Given the description of an element on the screen output the (x, y) to click on. 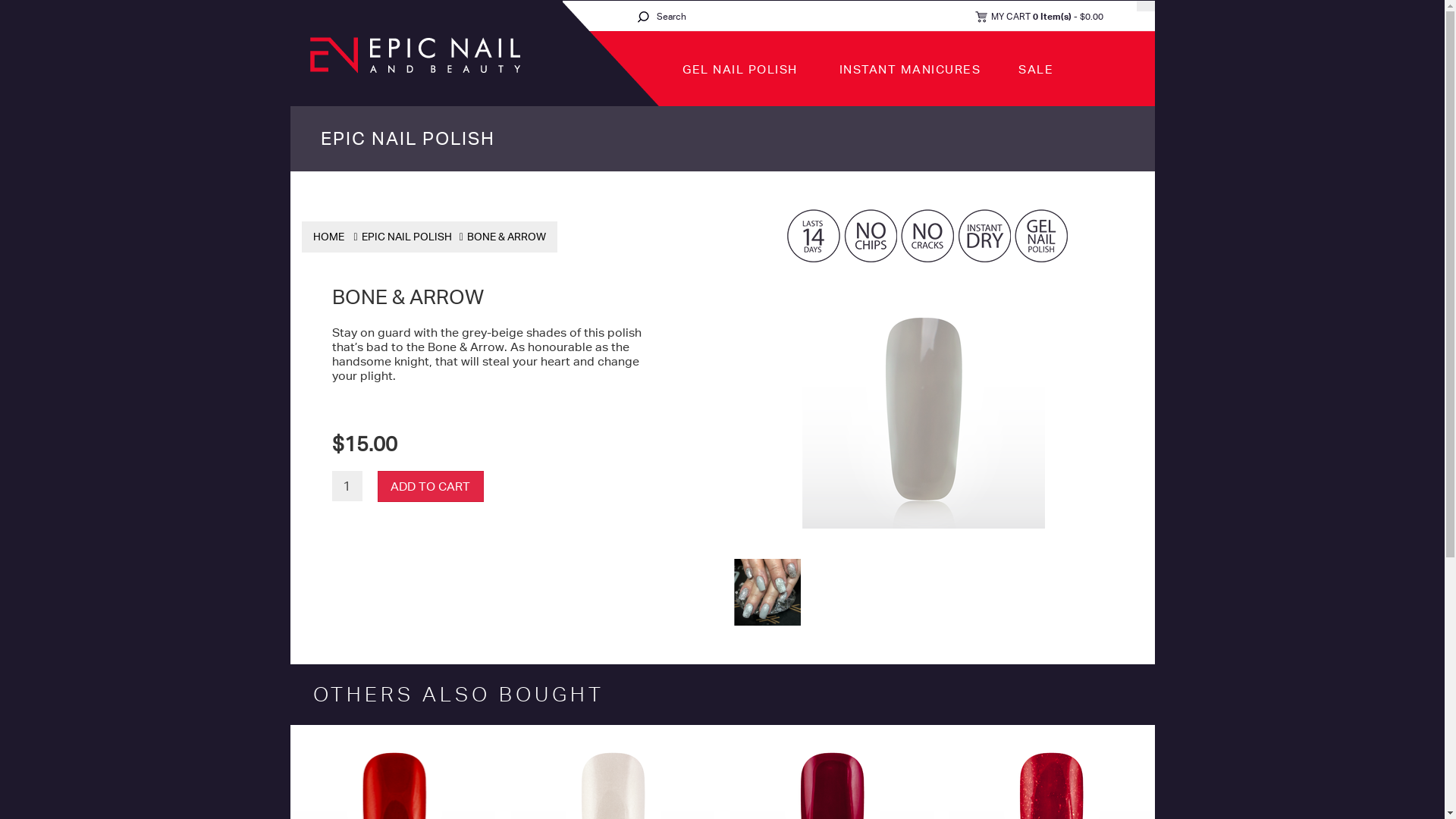
SALE Element type: text (1035, 69)
Large View Element type: hover (767, 591)
GEL NAIL POLISH Element type: text (737, 69)
EPIC NAIL POLISH Element type: text (407, 138)
ADD TO CART Element type: text (430, 485)
HOME Element type: text (327, 236)
Epic Nail & Beauty Element type: hover (413, 54)
INSTANT MANICURES Element type: text (908, 69)
EPIC NAIL POLISH Element type: text (406, 236)
MY CART 0 Item(s) - $0.00 Element type: text (1039, 15)
BONE & ARROW Element type: text (506, 236)
Search Element type: text (643, 15)
